Given the description of an element on the screen output the (x, y) to click on. 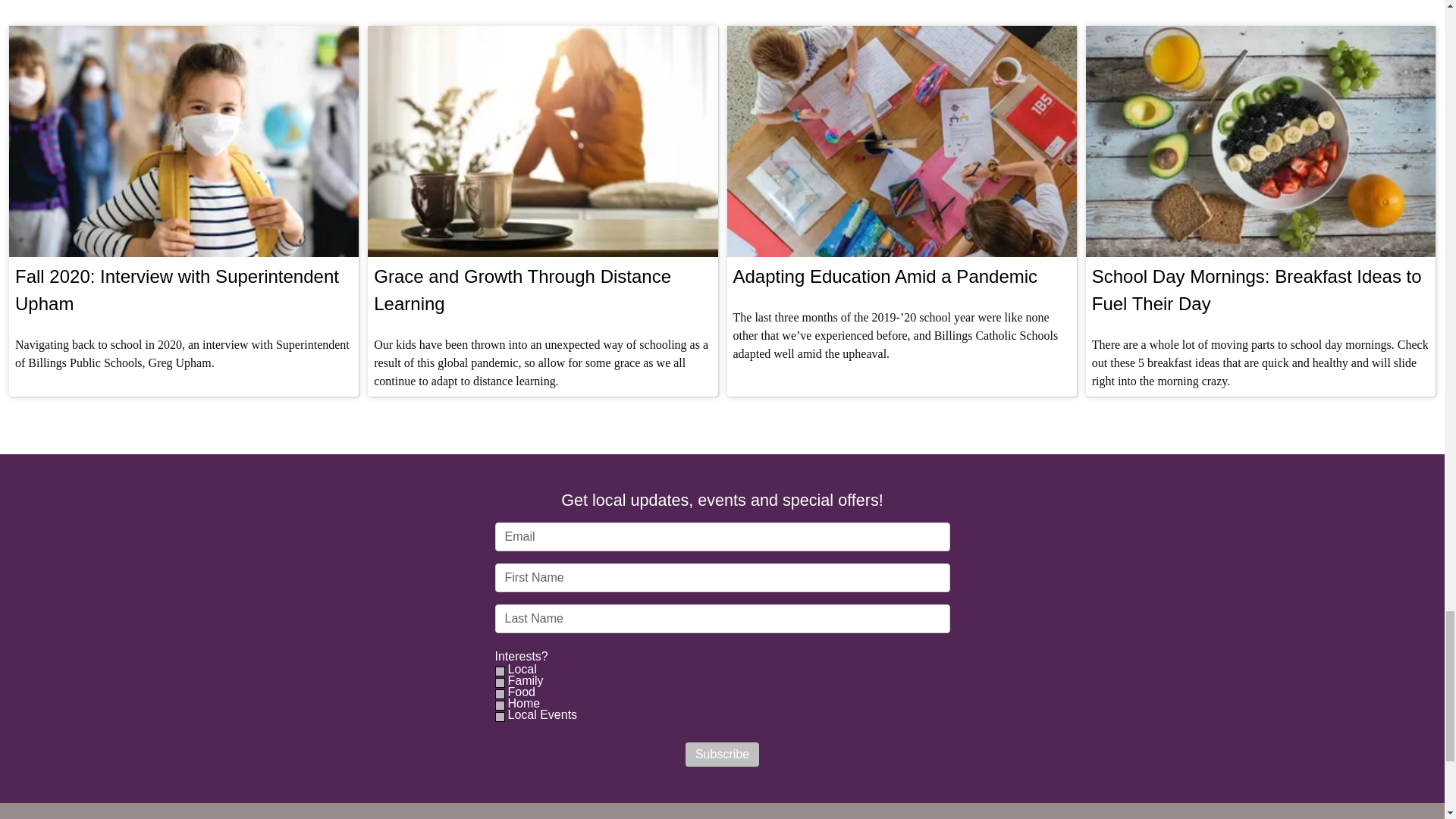
Local (499, 671)
Subscribe (721, 754)
Local (521, 669)
Family (499, 682)
Home (522, 703)
Food (520, 692)
Local Events (541, 714)
Family (524, 680)
Local Events (499, 716)
Home (499, 705)
Subscribe (721, 754)
Food (499, 694)
